Given the description of an element on the screen output the (x, y) to click on. 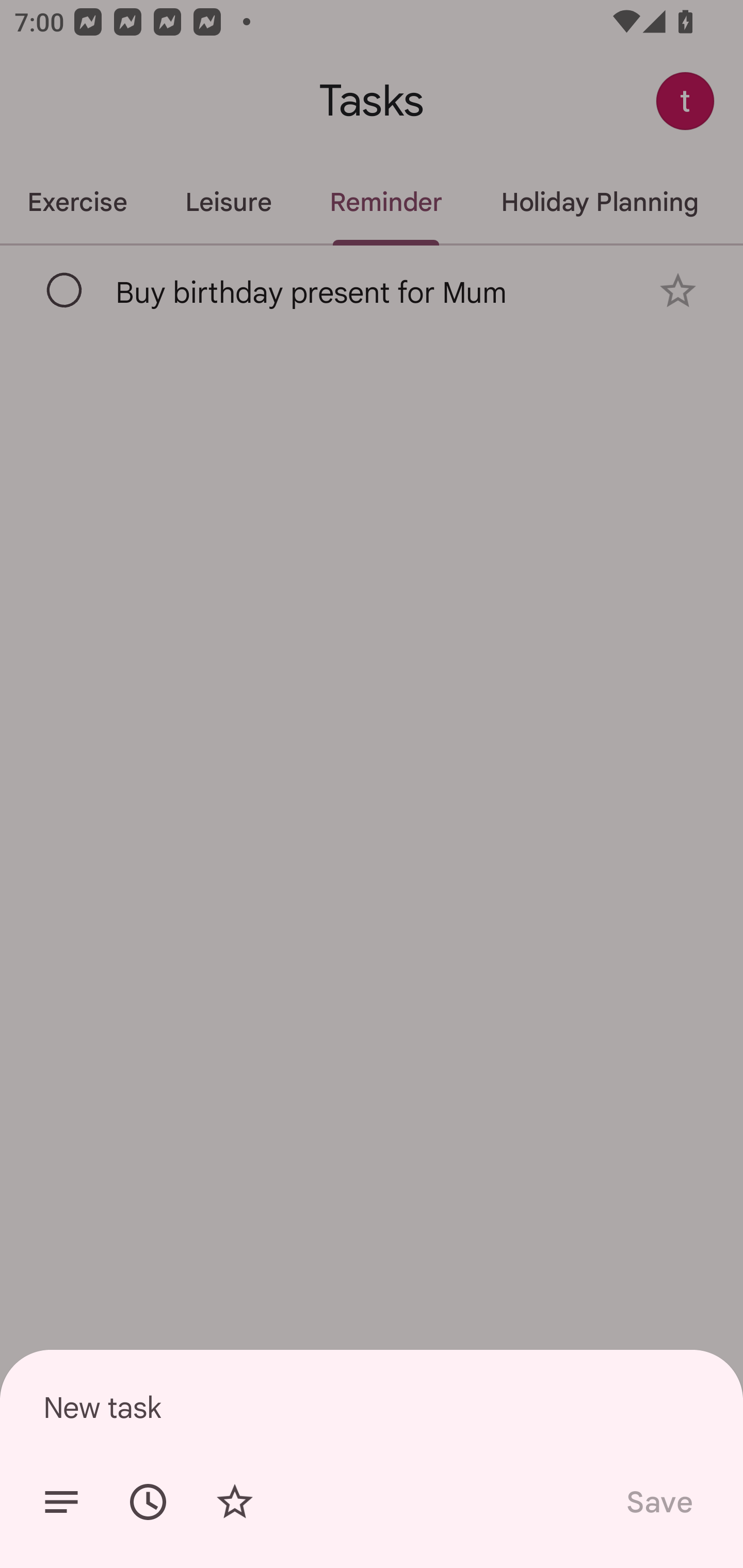
New task (371, 1407)
Save (659, 1501)
Add details (60, 1501)
Set date/time (147, 1501)
Add star (234, 1501)
